Given the description of an element on the screen output the (x, y) to click on. 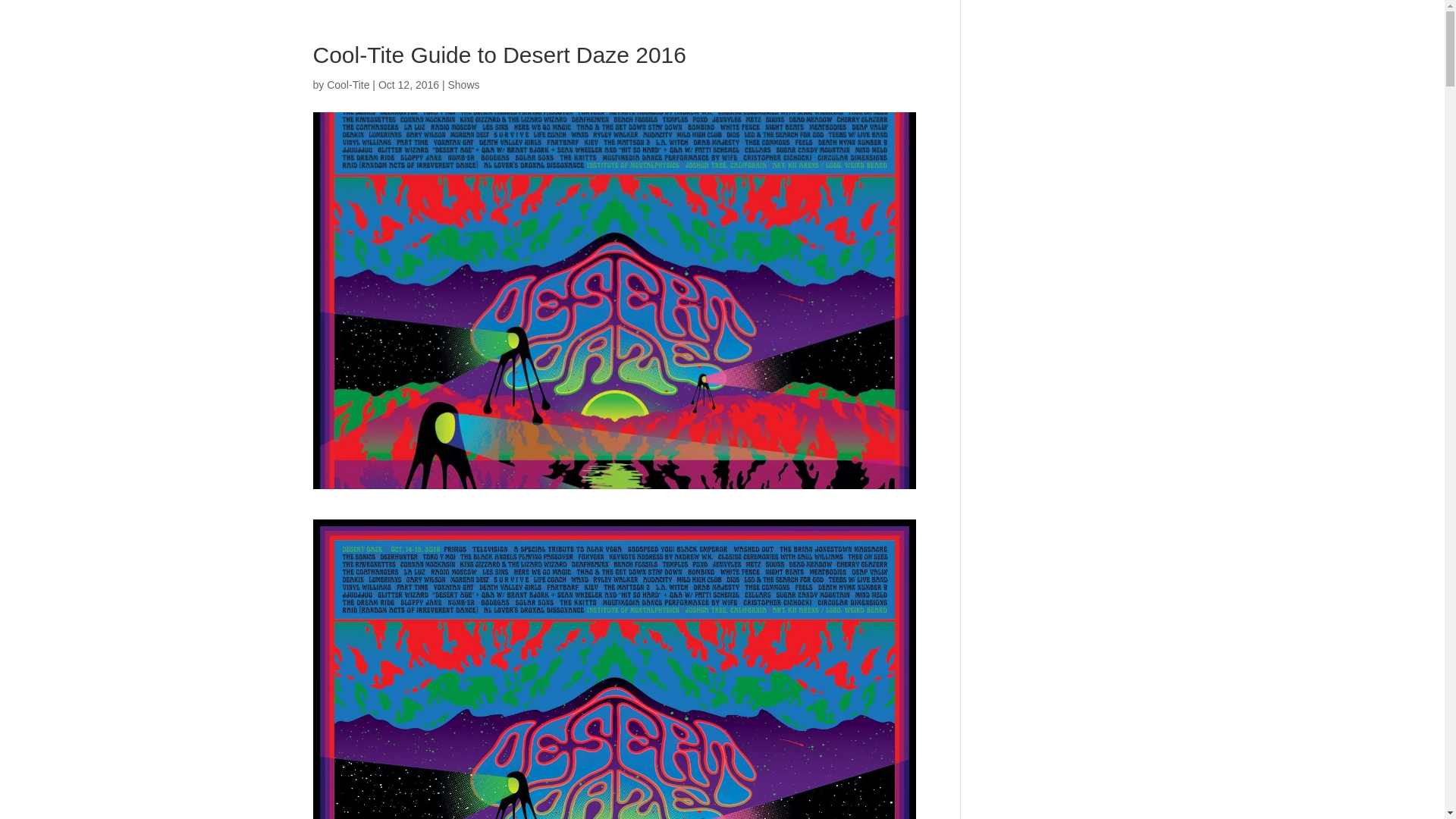
Posts by Cool-Tite (347, 84)
Shows (462, 84)
Cool-Tite (347, 84)
